Given the description of an element on the screen output the (x, y) to click on. 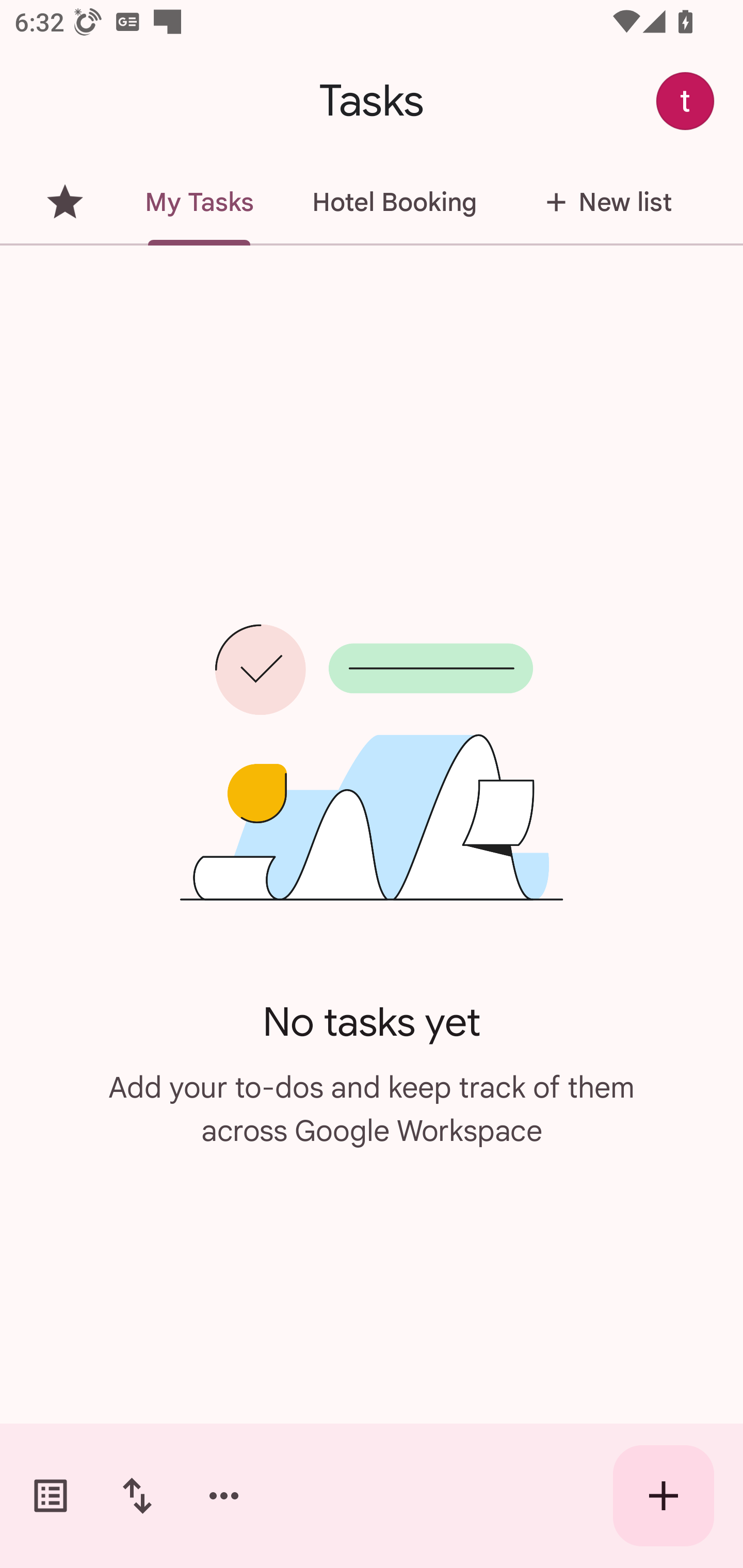
Starred (64, 202)
Hotel Booking (394, 202)
New list (602, 202)
Switch task lists (50, 1495)
Create new task (663, 1495)
Change sort order (136, 1495)
More options (223, 1495)
